Given the description of an element on the screen output the (x, y) to click on. 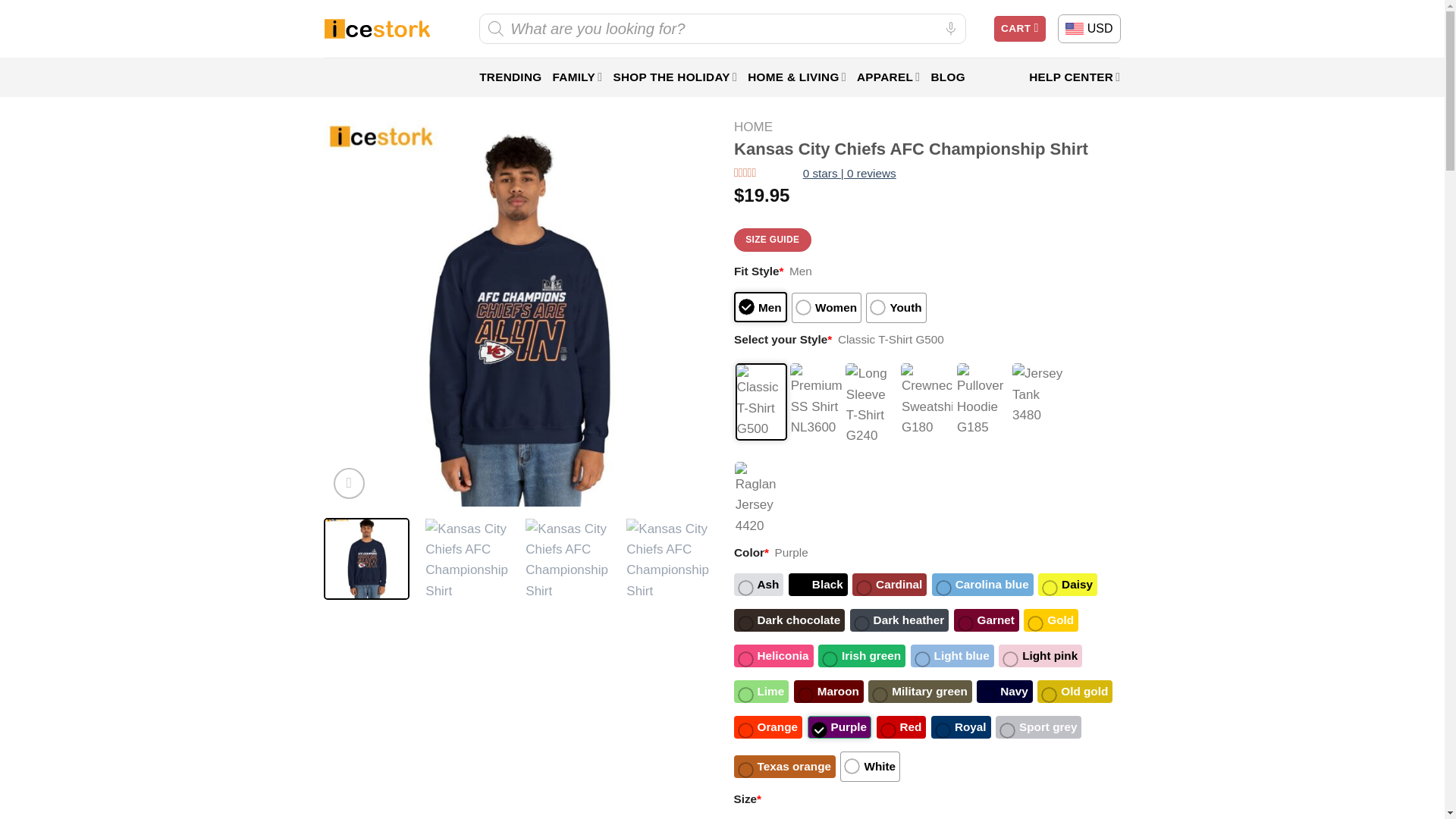
Cart (1019, 28)
FAMILY (576, 77)
Zoom (348, 482)
Icestork - Best Clothings With Cheap Price (376, 28)
CART (1019, 28)
Kansas City Chiefs AFC Championship Shirt 2 (567, 560)
HELP CENTER (1074, 77)
APPAREL (888, 77)
Kansas City Chiefs AFC Championship Shirt 1 (467, 560)
TRENDING (510, 77)
SHOP THE HOLIDAY (674, 77)
